Given the description of an element on the screen output the (x, y) to click on. 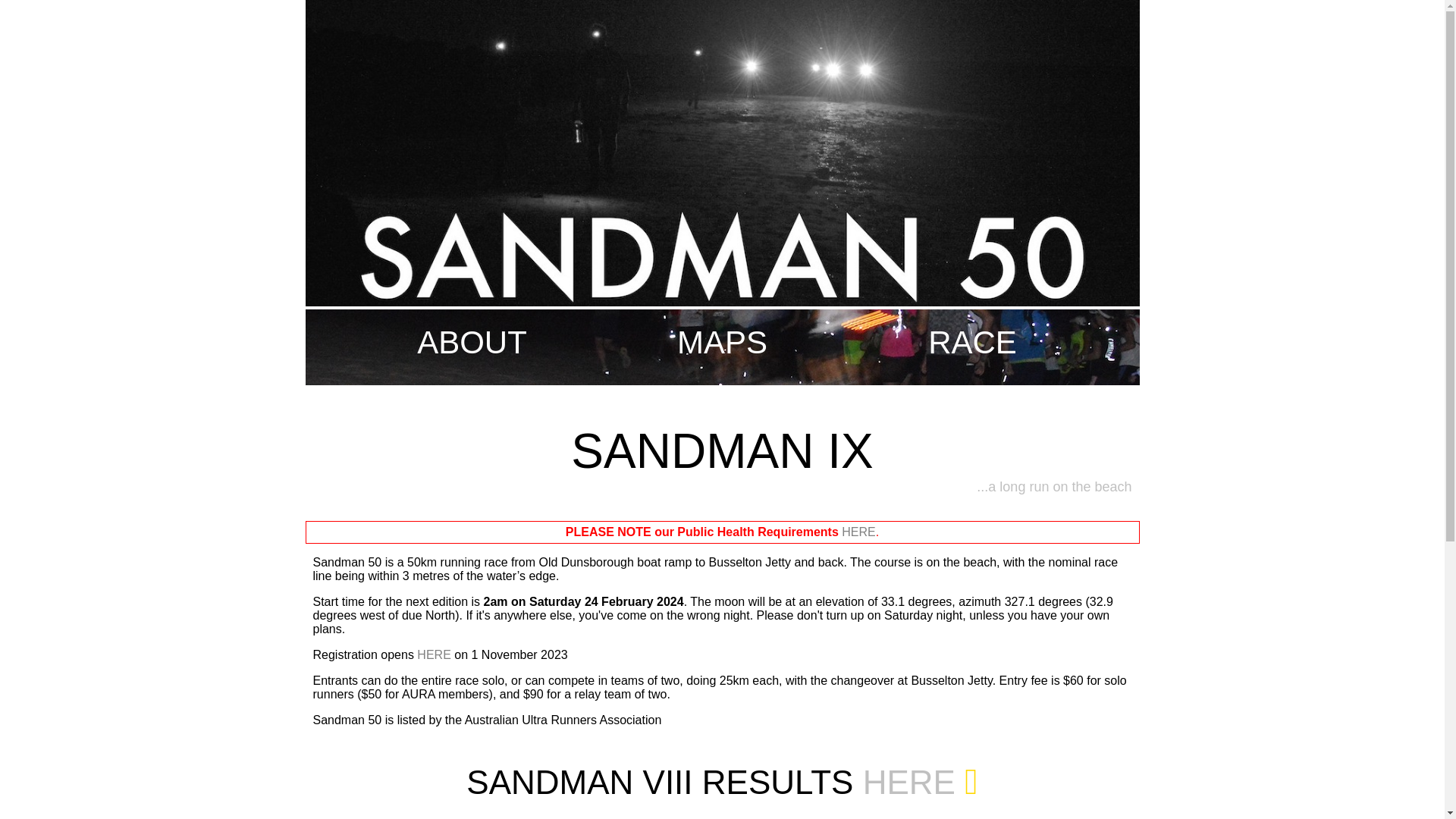
HERE Element type: text (858, 531)
HERE Element type: text (433, 654)
RACE Element type: text (972, 342)
MAPS Element type: text (722, 342)
ABOUT Element type: text (472, 342)
